Given the description of an element on the screen output the (x, y) to click on. 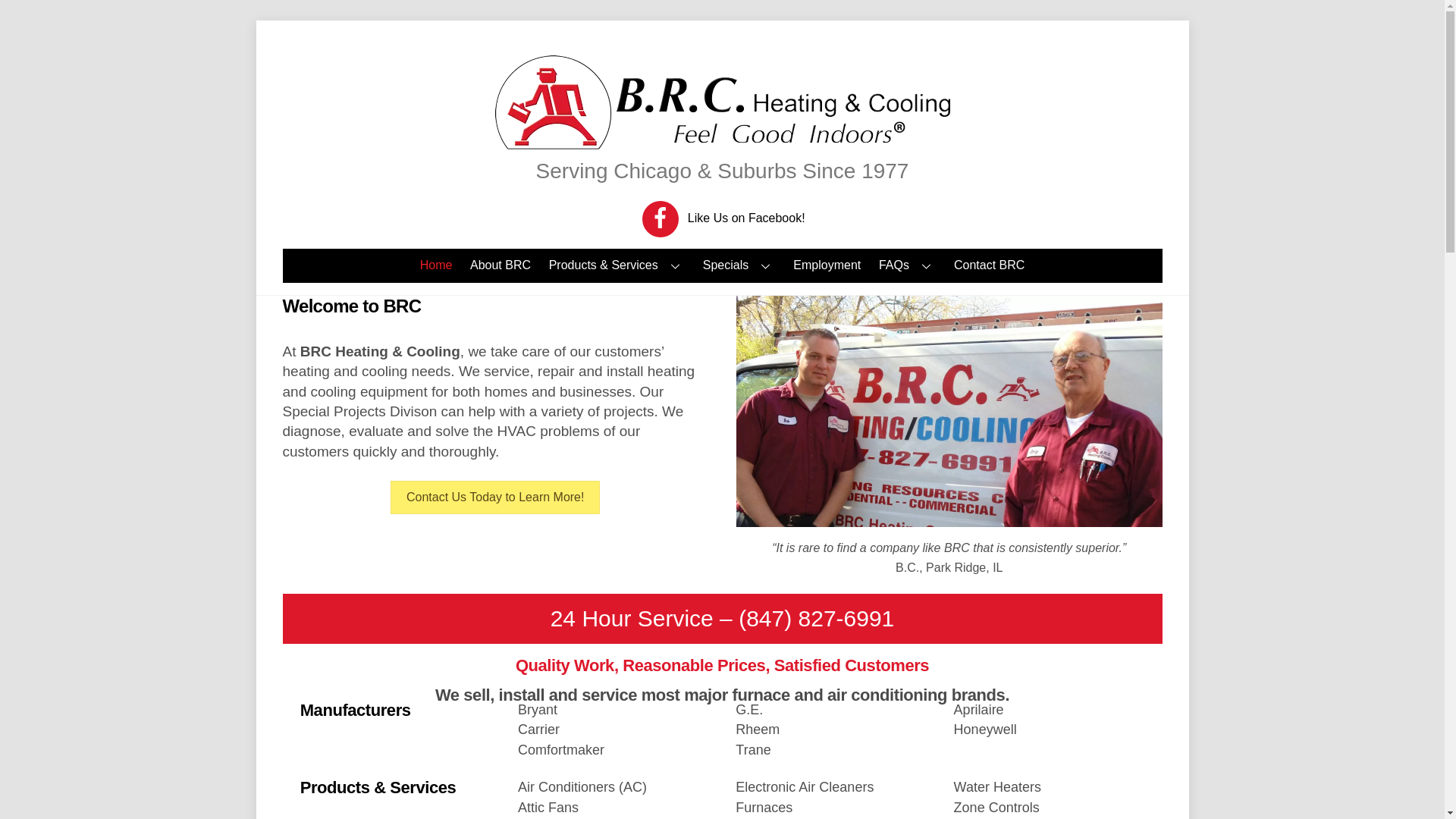
Employment (826, 265)
About BRC (500, 265)
brc-heating-cooling-jerry-bob (948, 411)
Contact BRC (989, 265)
FAQs (906, 265)
Like Us on Facebook! (723, 217)
Contact Us Today to Learn More! (494, 497)
Home (436, 265)
Specials (739, 265)
